Given the description of an element on the screen output the (x, y) to click on. 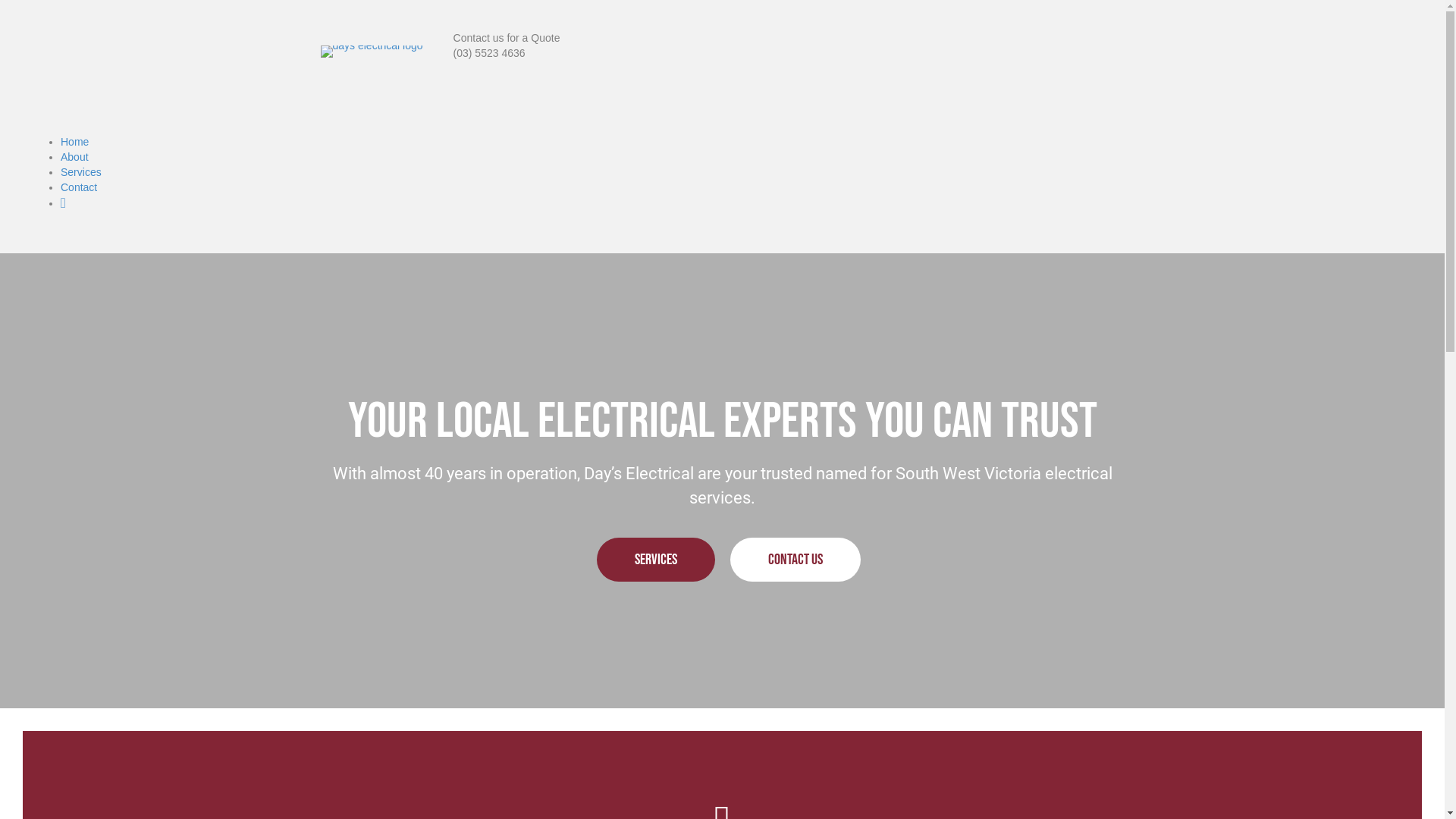
days electrical logo Element type: hover (371, 51)
Services Element type: text (80, 172)
Contact Element type: text (78, 187)
Home Element type: text (74, 141)
About Element type: text (74, 156)
SERVICES Element type: text (655, 559)
CONTACT US Element type: text (794, 559)
